Given the description of an element on the screen output the (x, y) to click on. 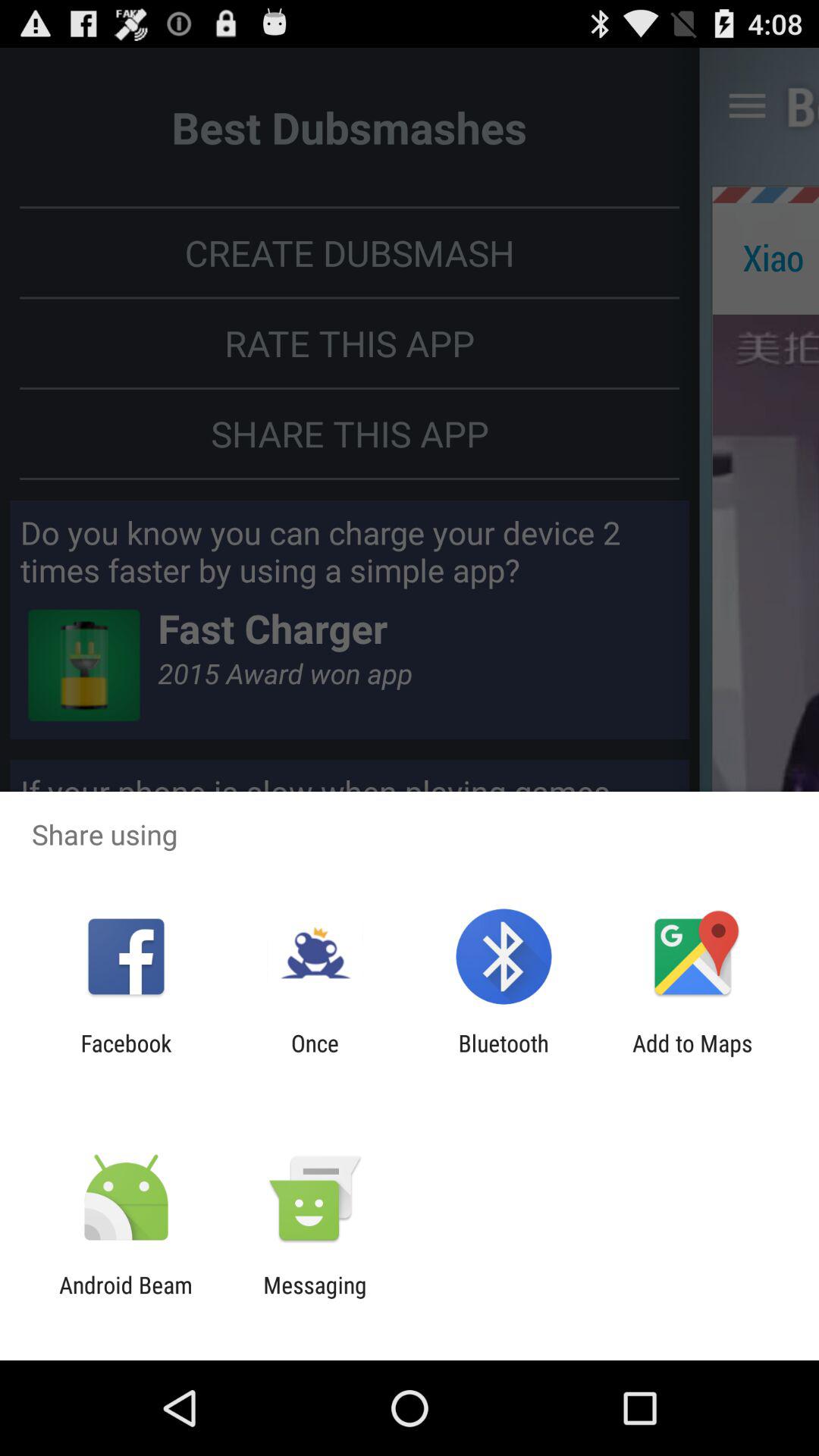
select the icon to the left of messaging app (125, 1298)
